Given the description of an element on the screen output the (x, y) to click on. 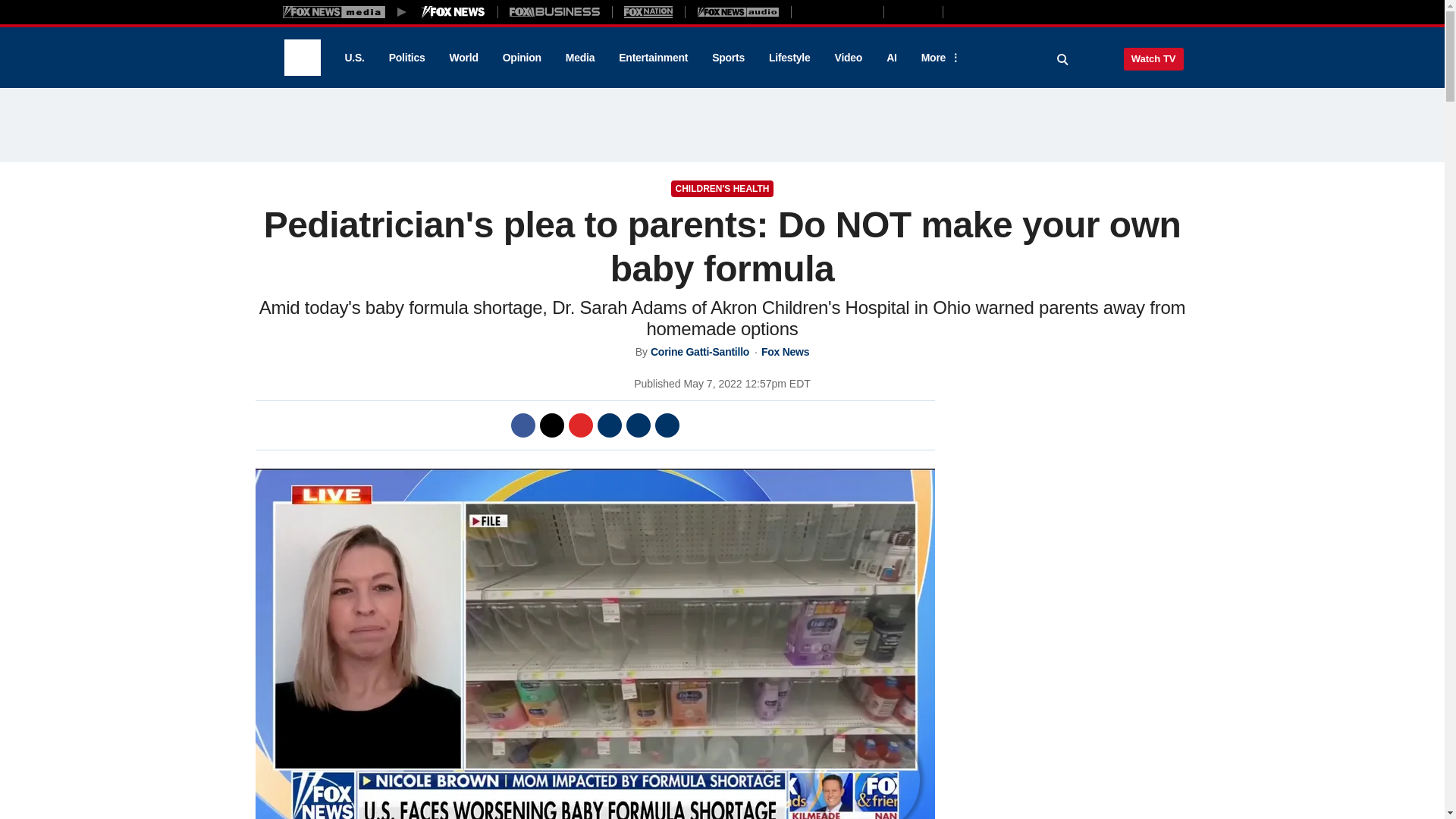
Books (1007, 11)
Sports (728, 57)
Fox News Media (453, 11)
Fox Business (554, 11)
Media (580, 57)
Outkick (912, 11)
World (464, 57)
Lifestyle (789, 57)
U.S. (353, 57)
Video (848, 57)
